Given the description of an element on the screen output the (x, y) to click on. 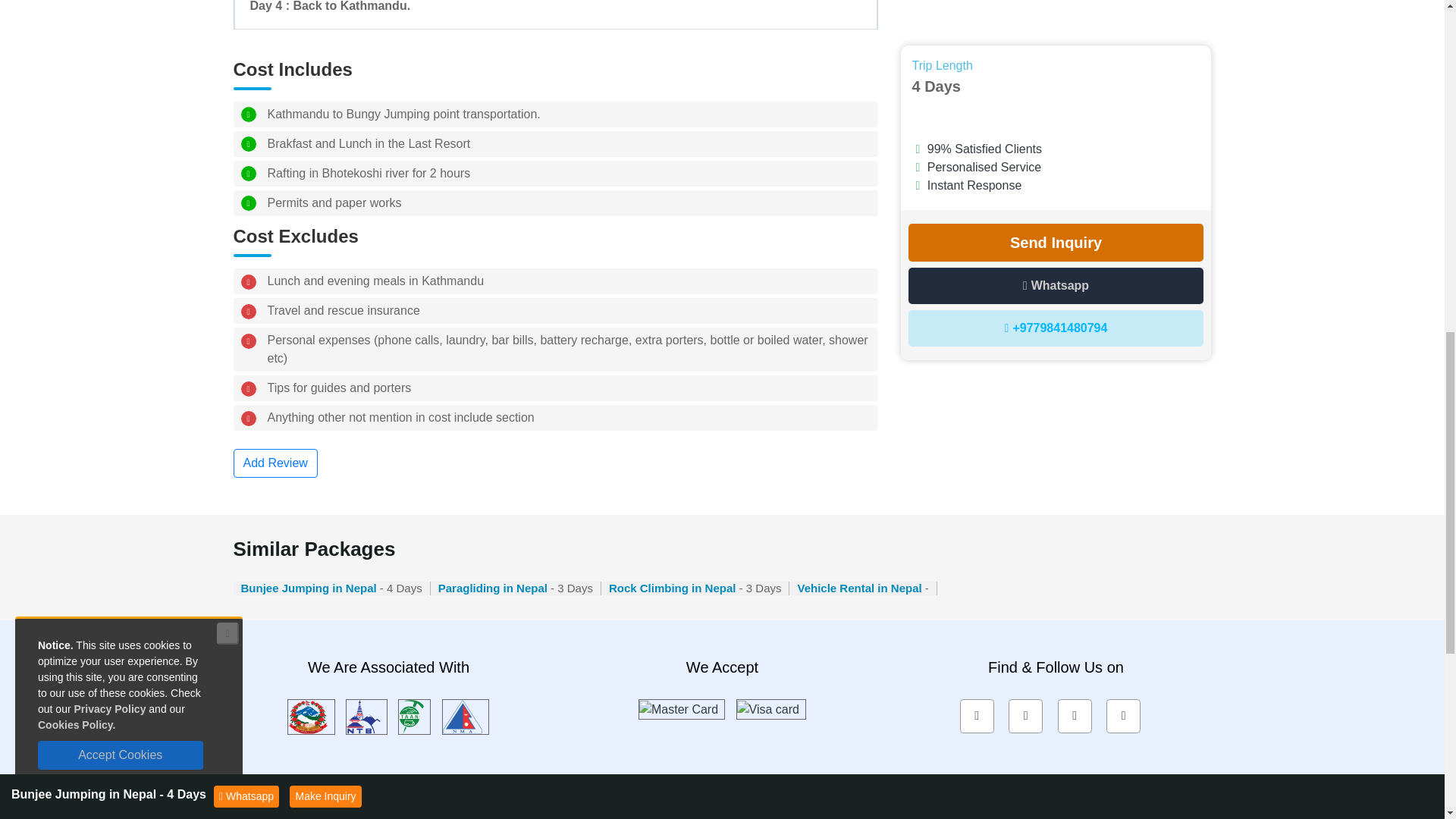
Master Card (681, 707)
Nepal Mountaineering Association (465, 716)
Tourism Ministry of Nepal (310, 716)
TAAN (413, 716)
Nepal Tourism Board (365, 716)
Visa card (770, 707)
